Given the description of an element on the screen output the (x, y) to click on. 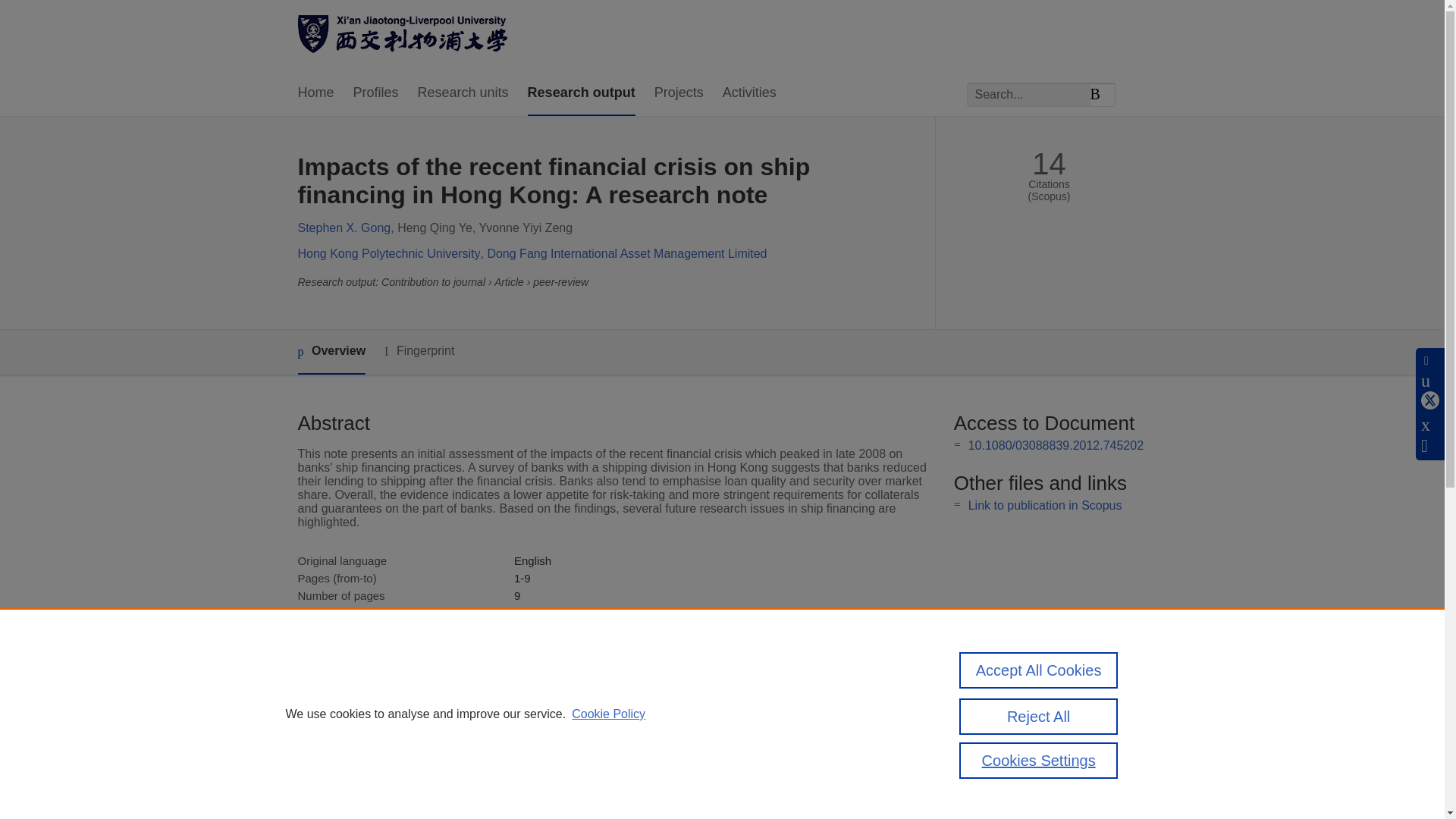
Dong Fang International Asset Management Limited (626, 253)
Activities (749, 93)
Overview (331, 352)
Research output (580, 93)
Fingerprint (419, 351)
Stephen X. Gong (343, 227)
Maritime Policy and Management (597, 612)
Projects (678, 93)
Hong Kong Polytechnic University (388, 253)
Profiles (375, 93)
Link to publication in Scopus (1045, 504)
Xi'an Jiaotong-Liverpool University Home (401, 35)
Research units (462, 93)
